Given the description of an element on the screen output the (x, y) to click on. 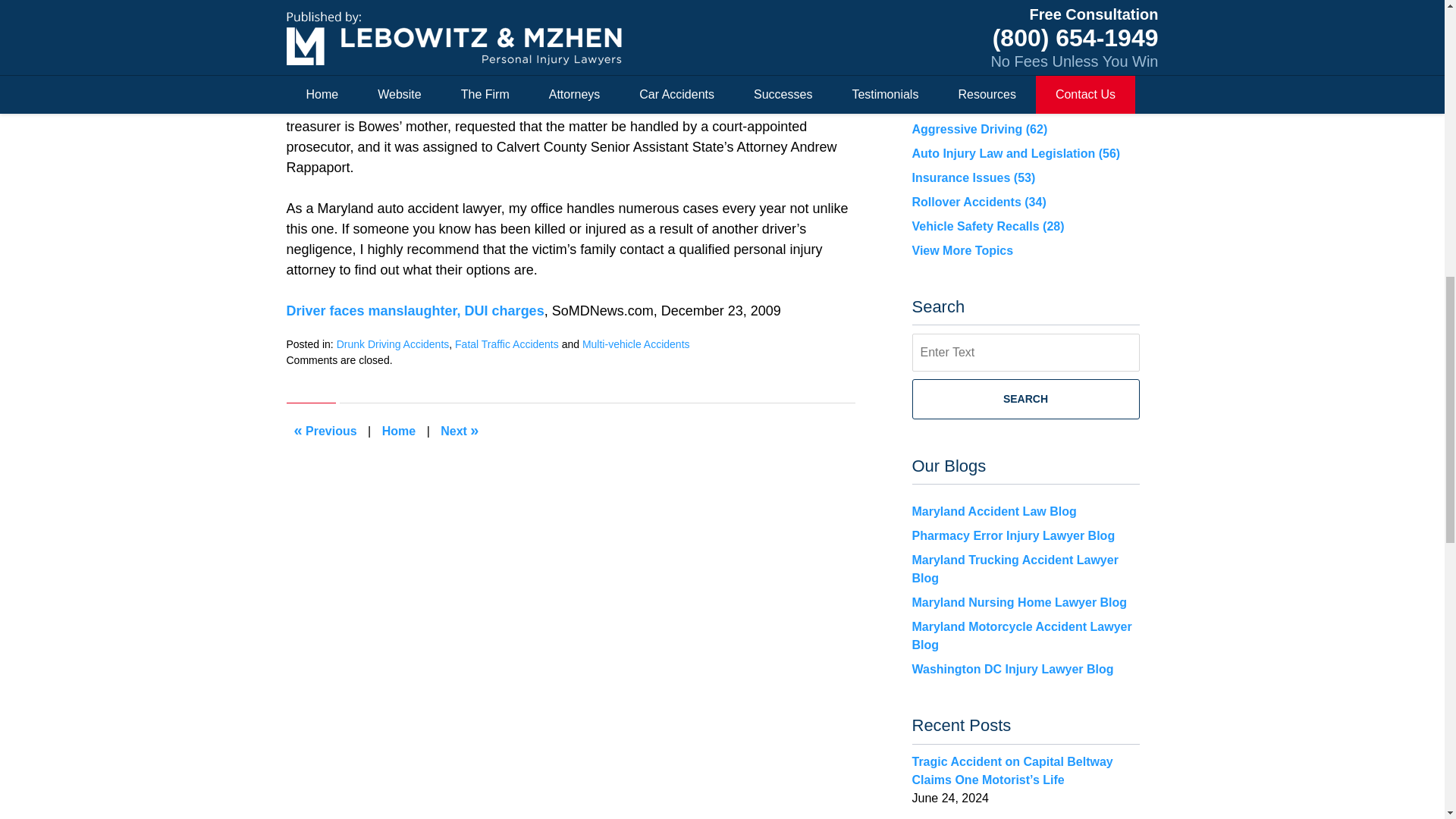
Home (398, 430)
View all posts in Fatal Traffic Accidents (506, 344)
Driver faces manslaughter, DUI charges (415, 310)
View all posts in Drunk Driving Accidents (392, 344)
Fatal Traffic Accidents (506, 344)
Multi-vehicle Accidents (636, 344)
View all posts in Multi-vehicle Accidents (636, 344)
Drunk Driving Accidents (392, 344)
